Given the description of an element on the screen output the (x, y) to click on. 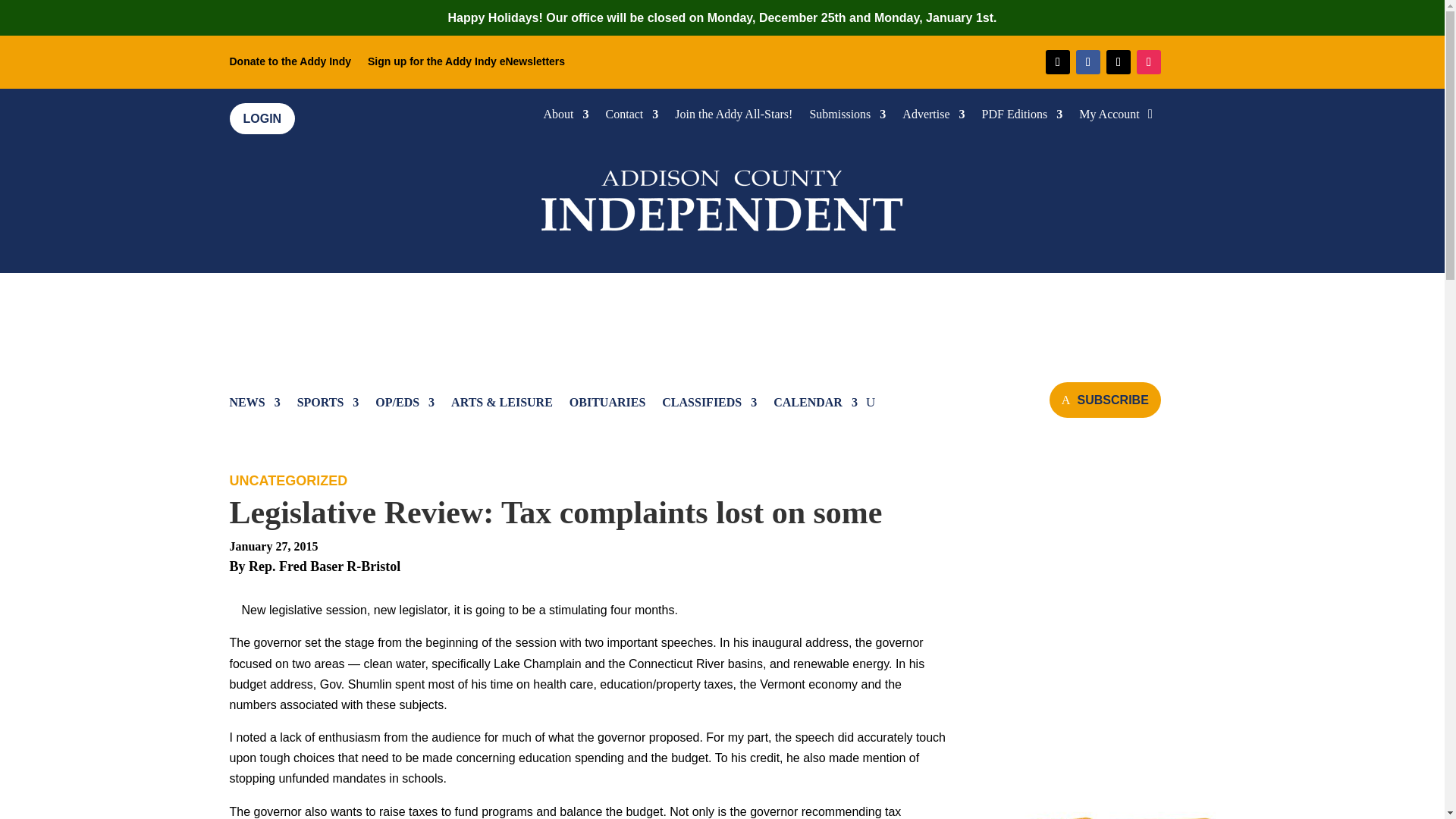
Follow on X (1118, 61)
Follow on Facebook (1087, 61)
Contact (632, 117)
About (566, 117)
3rd party ad content (722, 318)
Join the Addy All-Stars! (733, 117)
Sign up for the Addy Indy eNewsletters (466, 64)
Advertise (932, 117)
addison-logo (721, 197)
Submissions (847, 117)
PDF Editions (1021, 117)
Follow on Mail (1057, 61)
My Account (1109, 117)
Donate to the Addy Indy (289, 64)
LOGIN (261, 118)
